Given the description of an element on the screen output the (x, y) to click on. 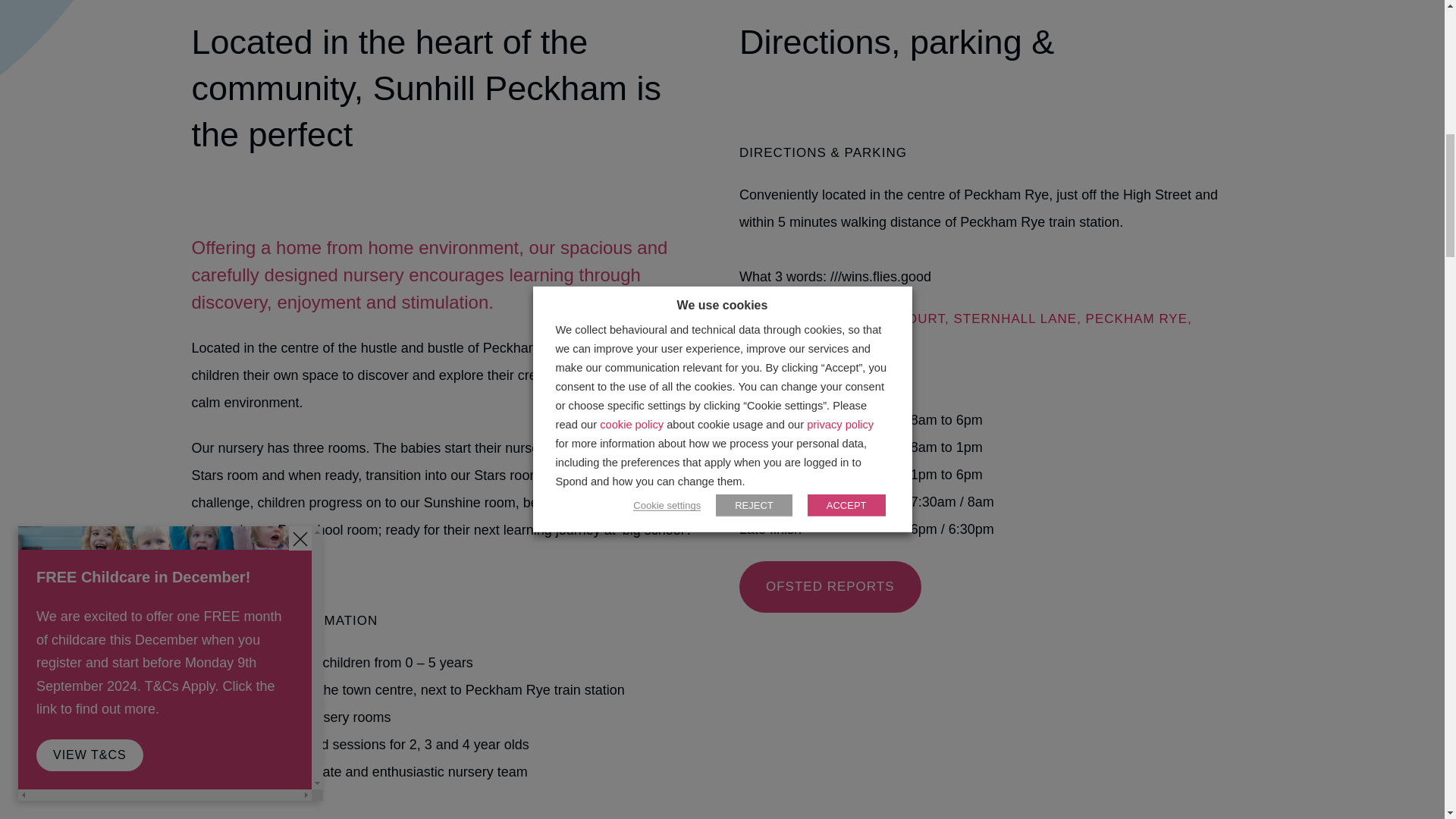
Fill 1 Created with Sketch. (85, 85)
